Given the description of an element on the screen output the (x, y) to click on. 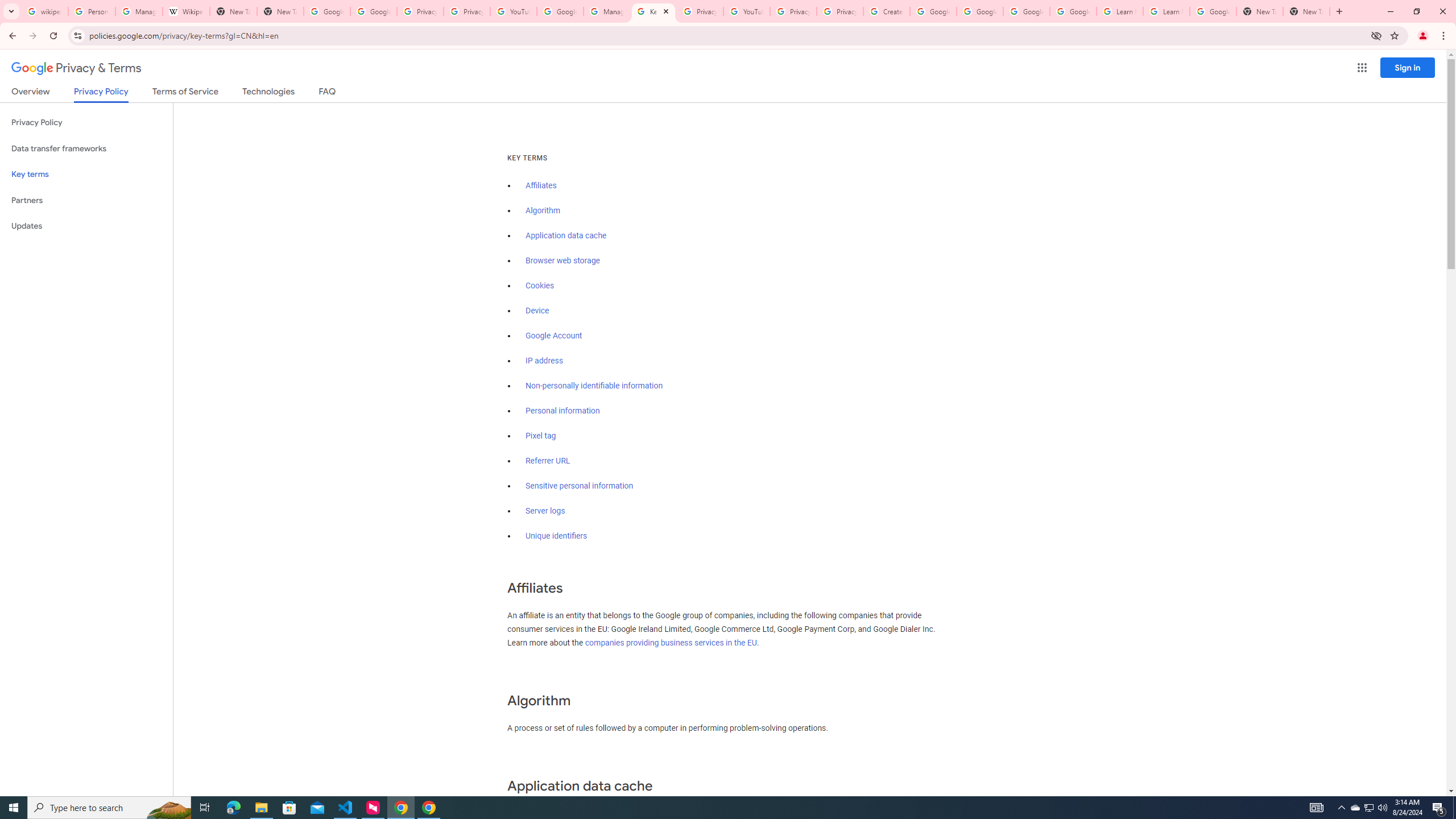
Manage your Location History - Google Search Help (138, 11)
Cookies (539, 285)
Create your Google Account (886, 11)
Wikipedia:Edit requests - Wikipedia (186, 11)
Google Account Help (1026, 11)
Affiliates (540, 185)
Device (536, 311)
